Given the description of an element on the screen output the (x, y) to click on. 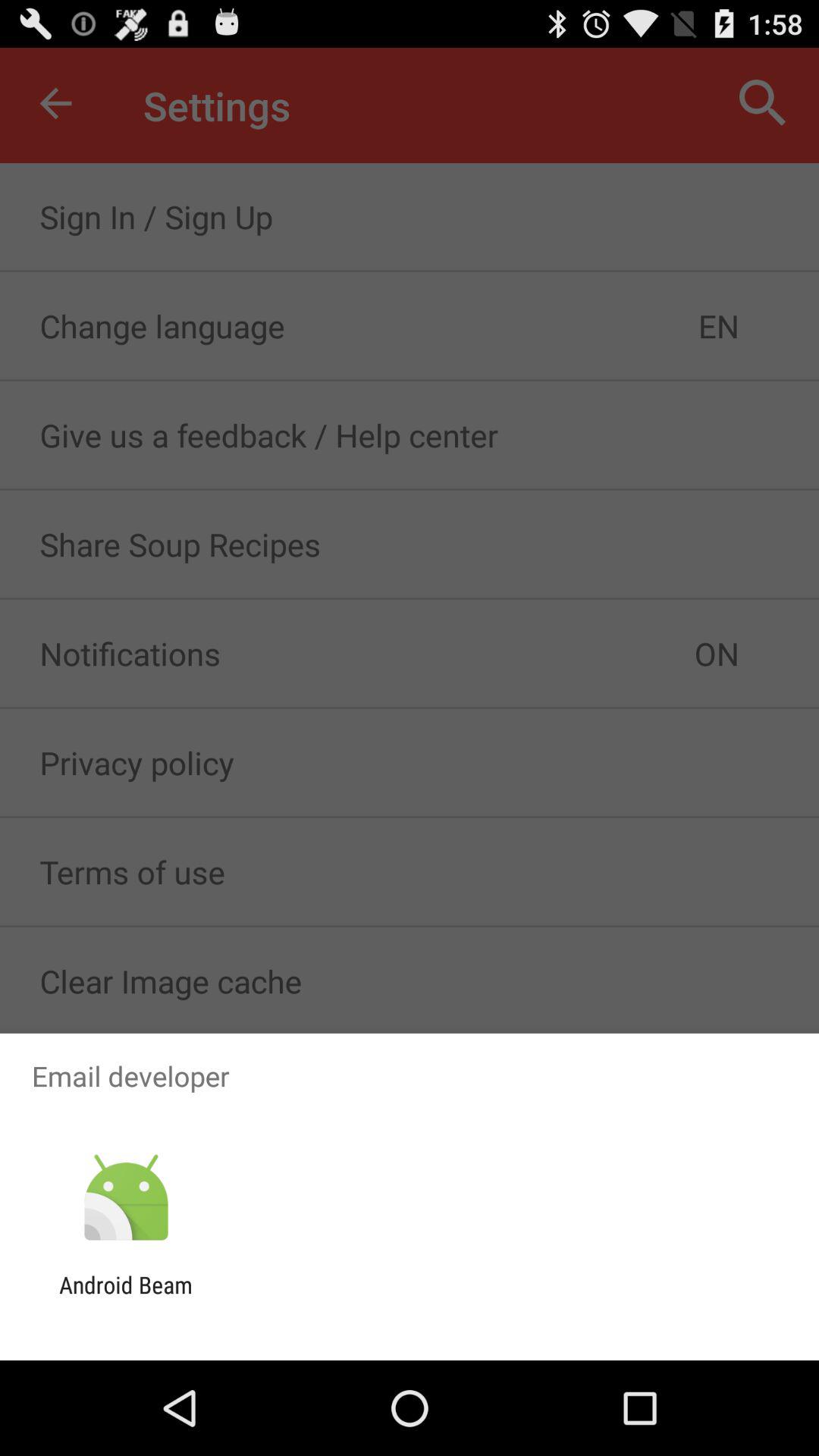
choose icon above the android beam app (126, 1198)
